Given the description of an element on the screen output the (x, y) to click on. 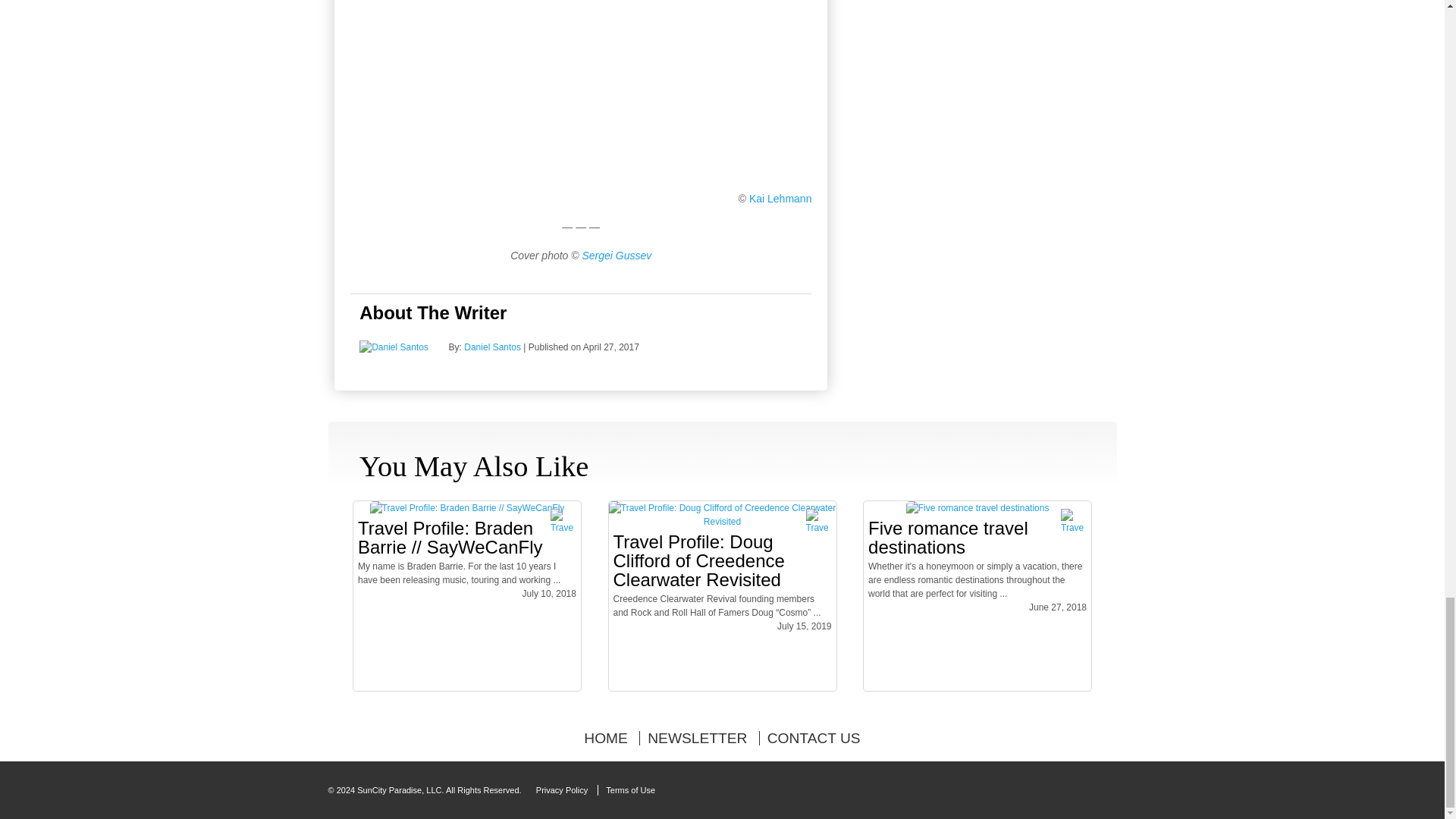
Kai Lehmann (780, 198)
Daniel Santos (492, 347)
Daniel Santos (393, 347)
Daniel Santos (492, 347)
Sergei Gussev (617, 255)
